Given the description of an element on the screen output the (x, y) to click on. 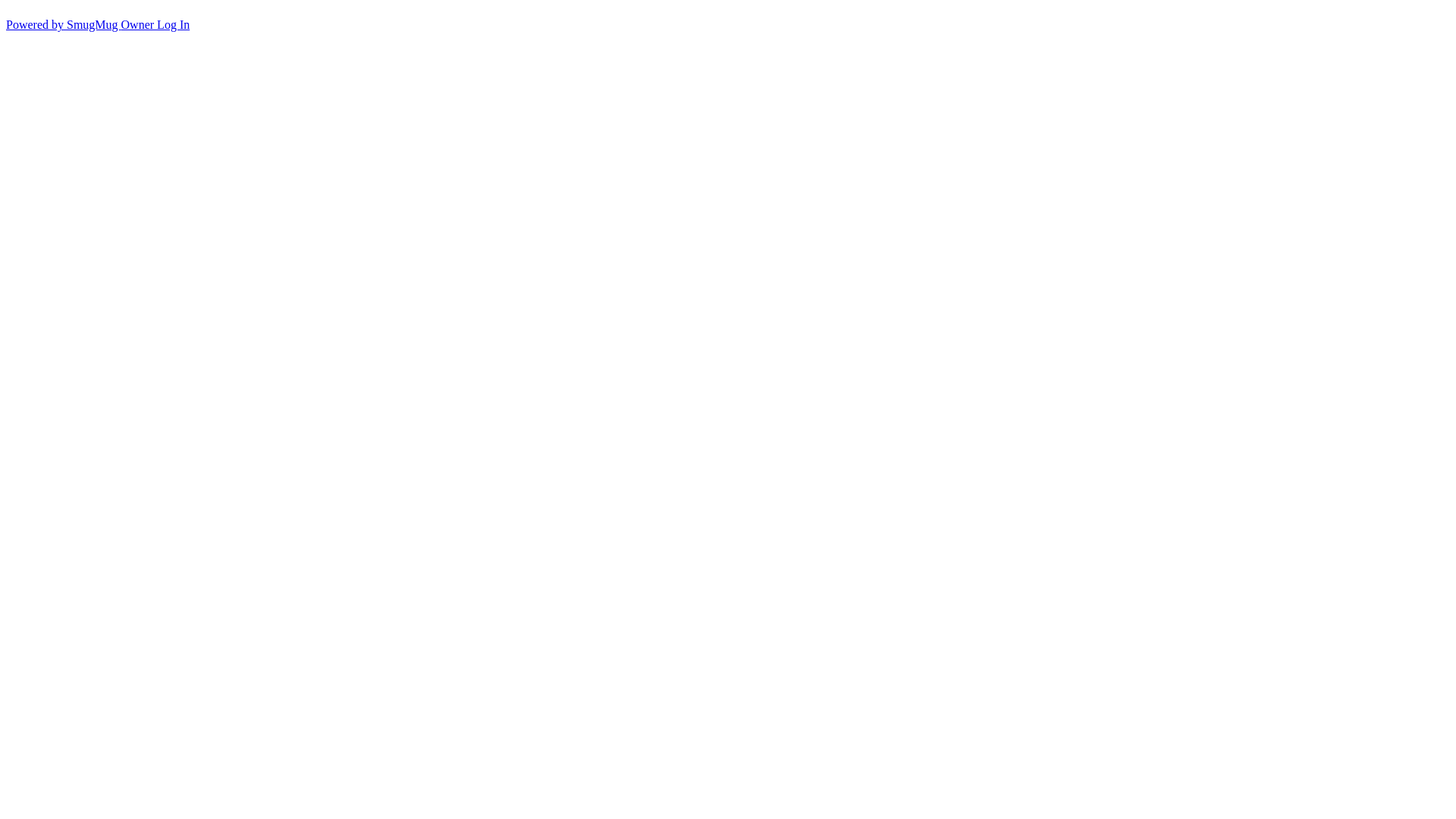
Powered by SmugMug Element type: text (63, 24)
Owner Log In Element type: text (155, 24)
